Given the description of an element on the screen output the (x, y) to click on. 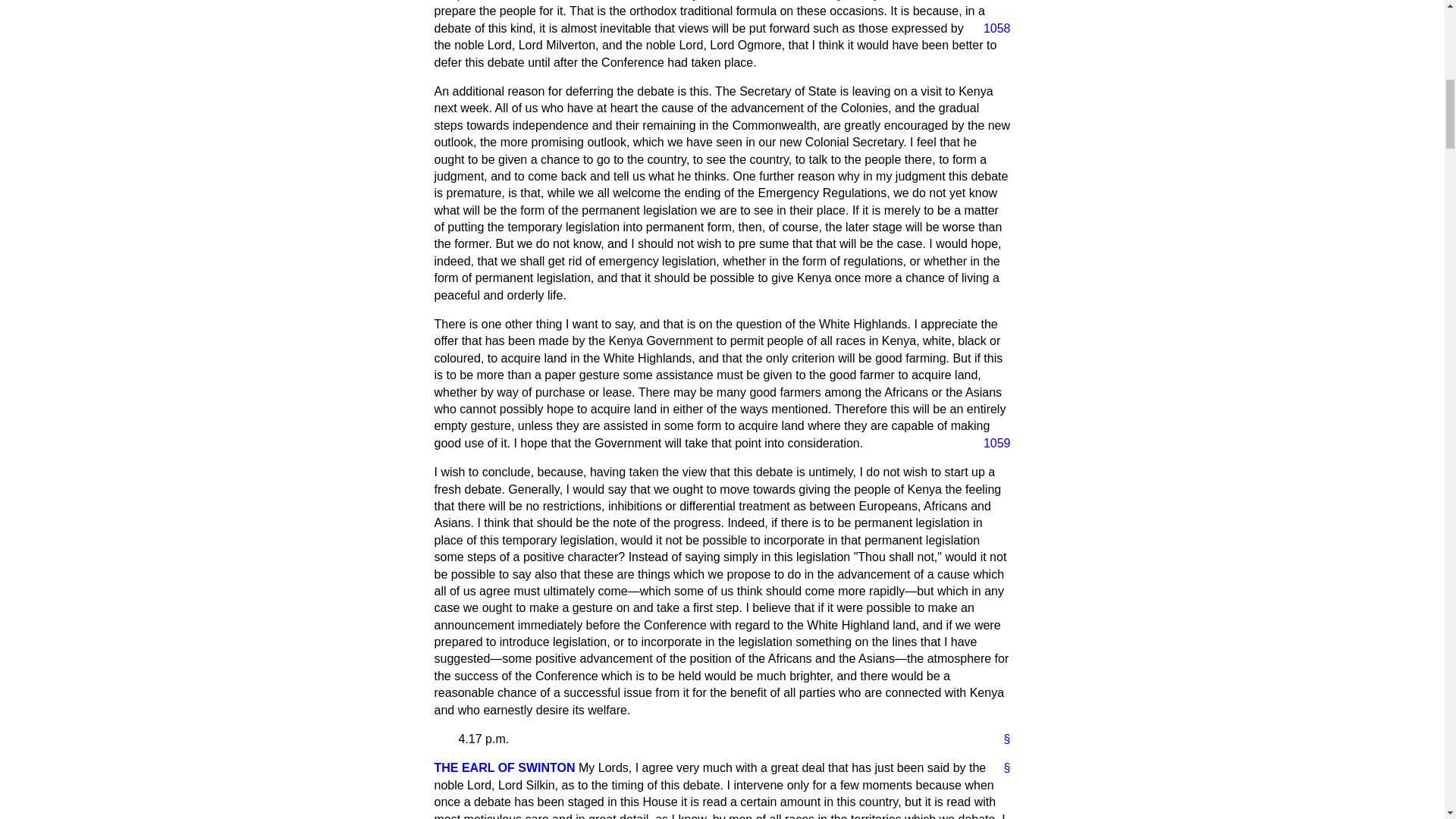
Mr Philip Lloyd-Greame (504, 767)
Link to this speech by Mr Philip Lloyd-Greame (1000, 768)
THE EARL OF SWINTON (504, 767)
Link to this contribution (1000, 739)
1058 (990, 28)
1059 (990, 443)
